Given the description of an element on the screen output the (x, y) to click on. 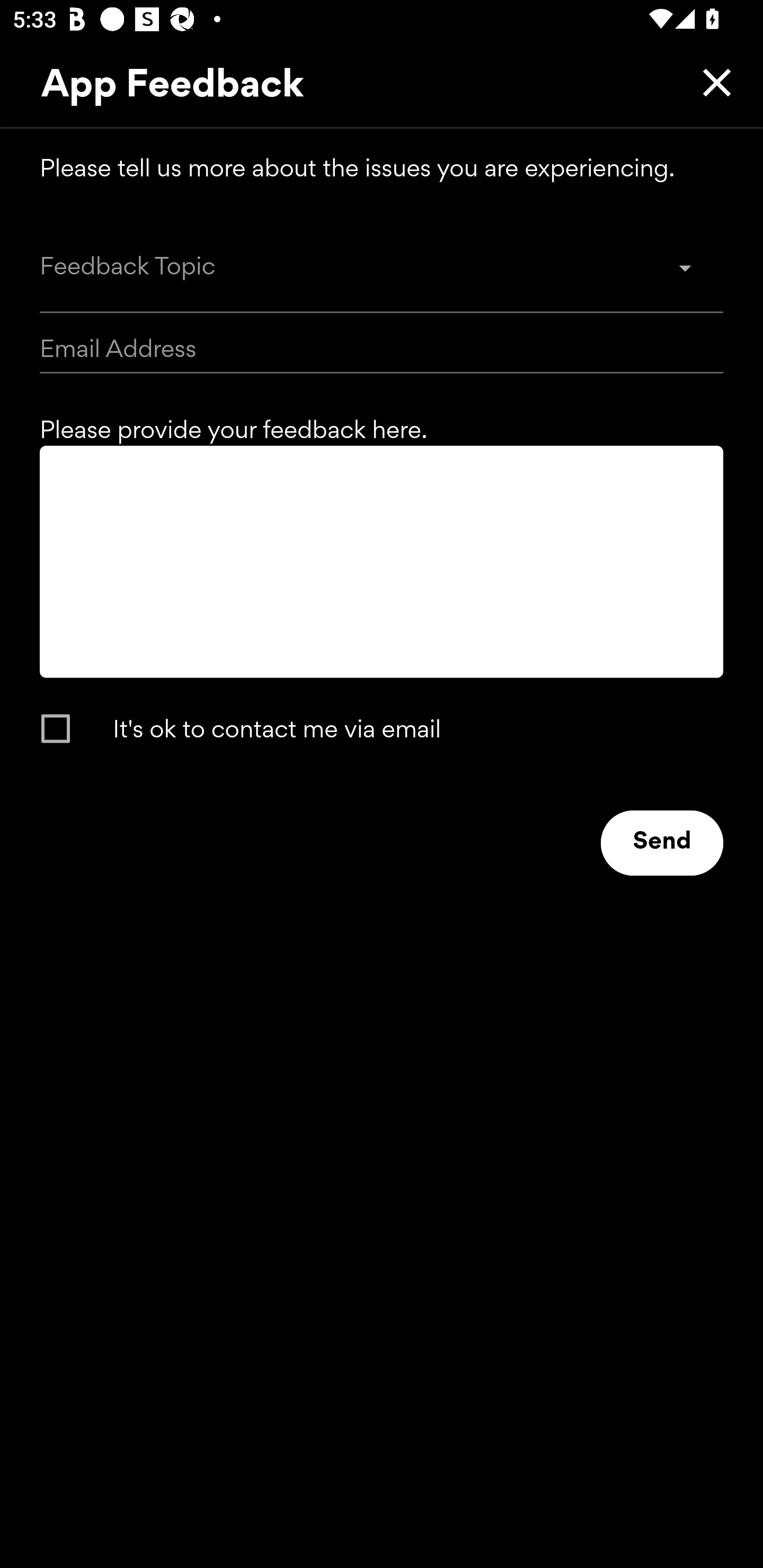
Close (712, 82)
It's ok to contact me via email (365, 728)
Send (662, 843)
